Given the description of an element on the screen output the (x, y) to click on. 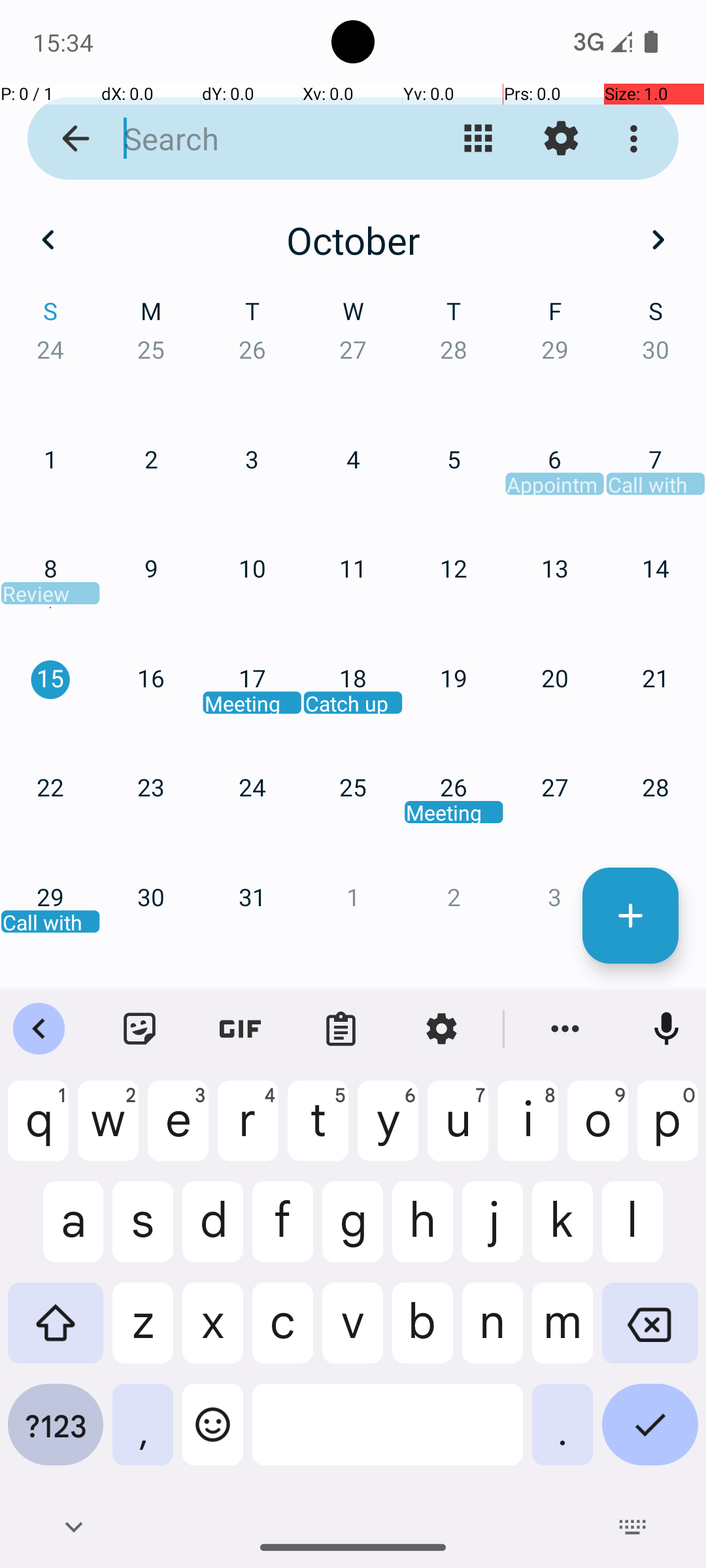
Change view Element type: android.widget.Button (477, 138)
New Event Element type: android.widget.ImageButton (630, 915)
October Element type: android.widget.TextView (352, 239)
